Given the description of an element on the screen output the (x, y) to click on. 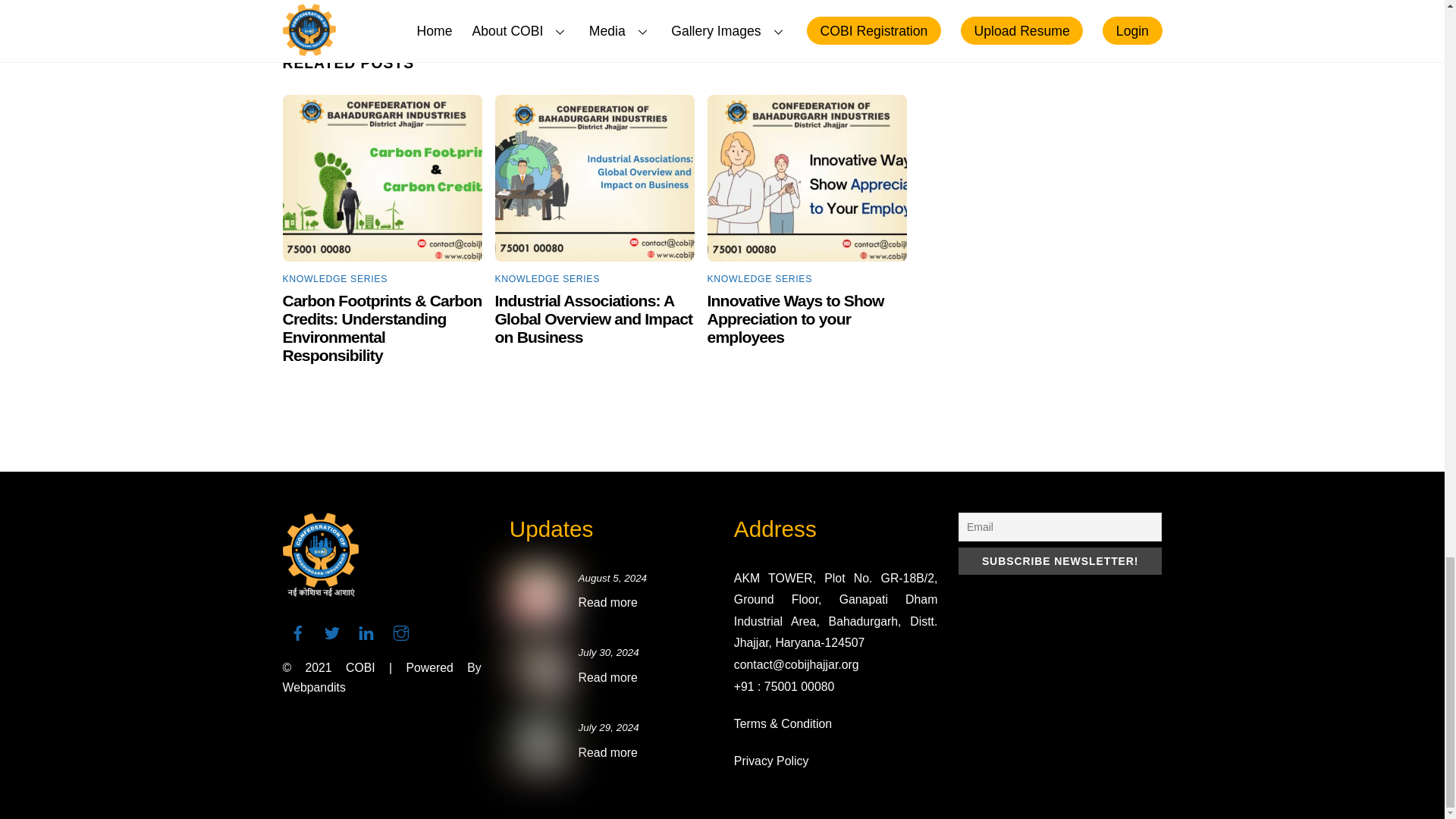
Subscribe Newsletter! (1059, 560)
Industrial Associations (595, 178)
cobi (537, 745)
Appreciation to your employees (807, 178)
newsletter (537, 596)
COBI Jhajjar (320, 590)
